Given the description of an element on the screen output the (x, y) to click on. 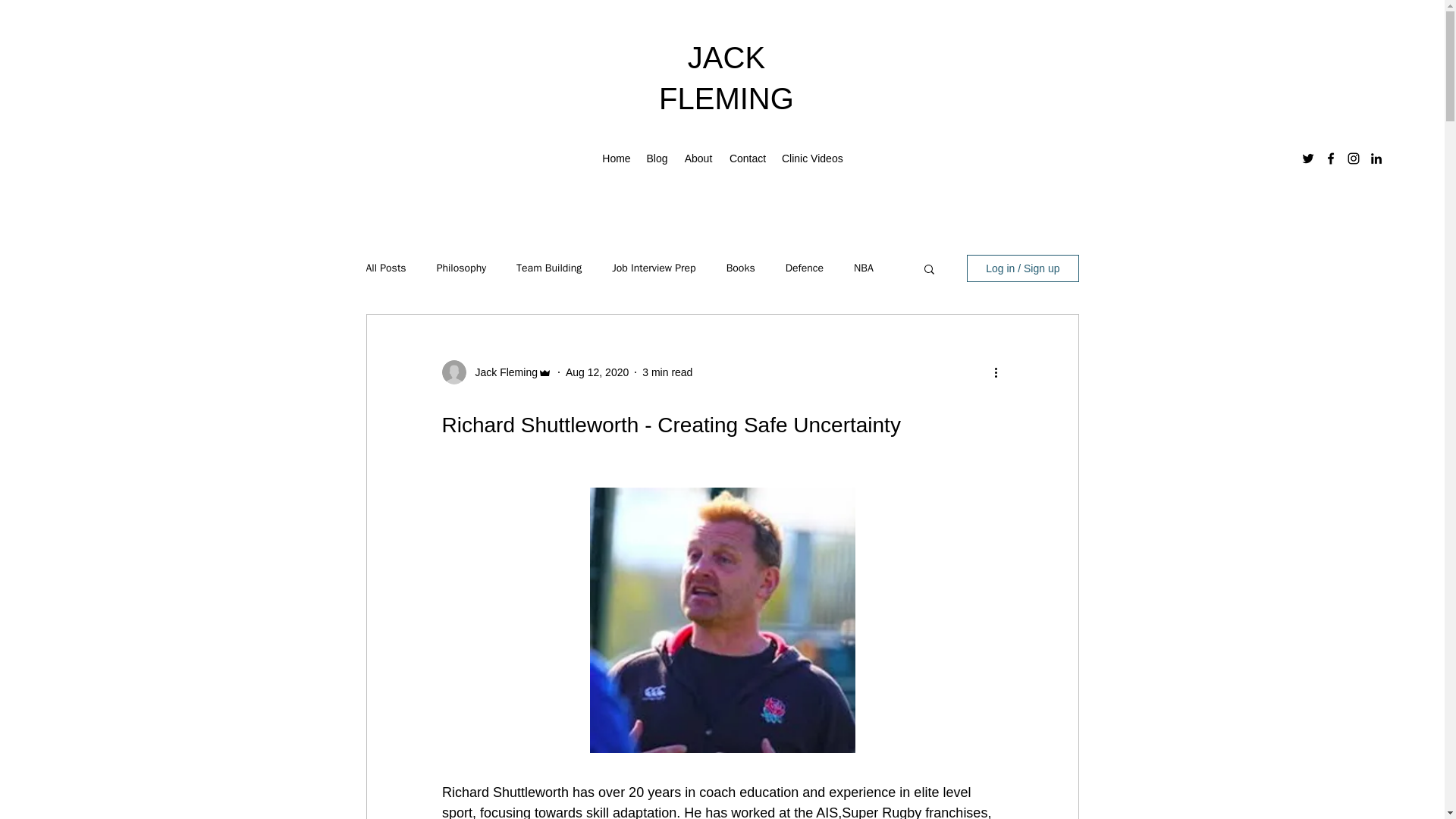
All Posts (385, 268)
Books (740, 268)
Contact (747, 158)
Job Interview Prep (653, 268)
About (697, 158)
NBA (863, 268)
Defence (805, 268)
JACK FLEMING (726, 77)
Clinic Videos (812, 158)
Home (616, 158)
Jack Fleming  (501, 371)
Team Building (548, 268)
Philosophy (461, 268)
Aug 12, 2020 (597, 371)
3 min read (667, 371)
